Given the description of an element on the screen output the (x, y) to click on. 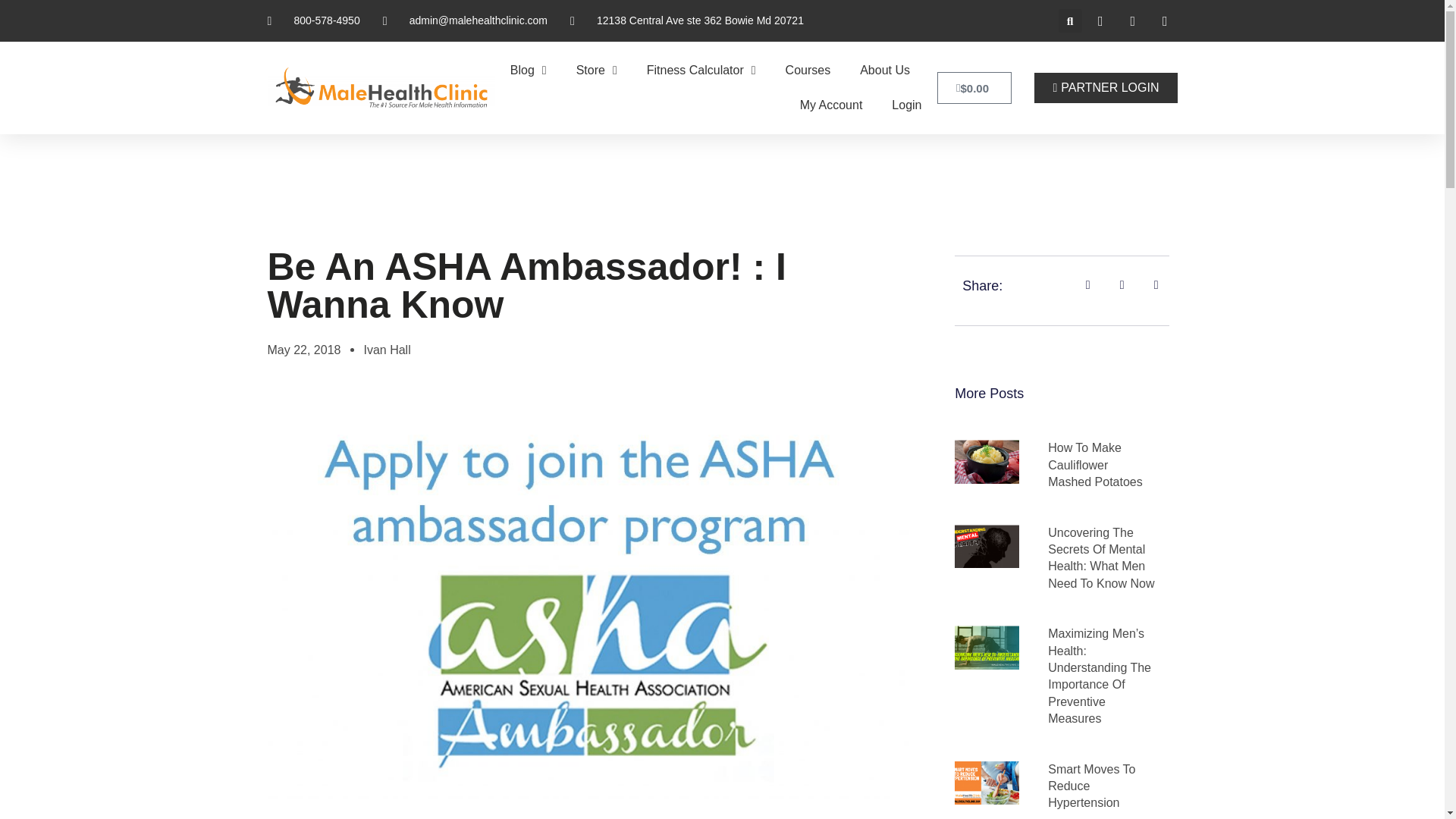
About Us (884, 70)
Store (596, 70)
Courses (808, 70)
Blog (528, 70)
My Account (831, 104)
Login (906, 104)
Fitness Calculator (700, 70)
